Given the description of an element on the screen output the (x, y) to click on. 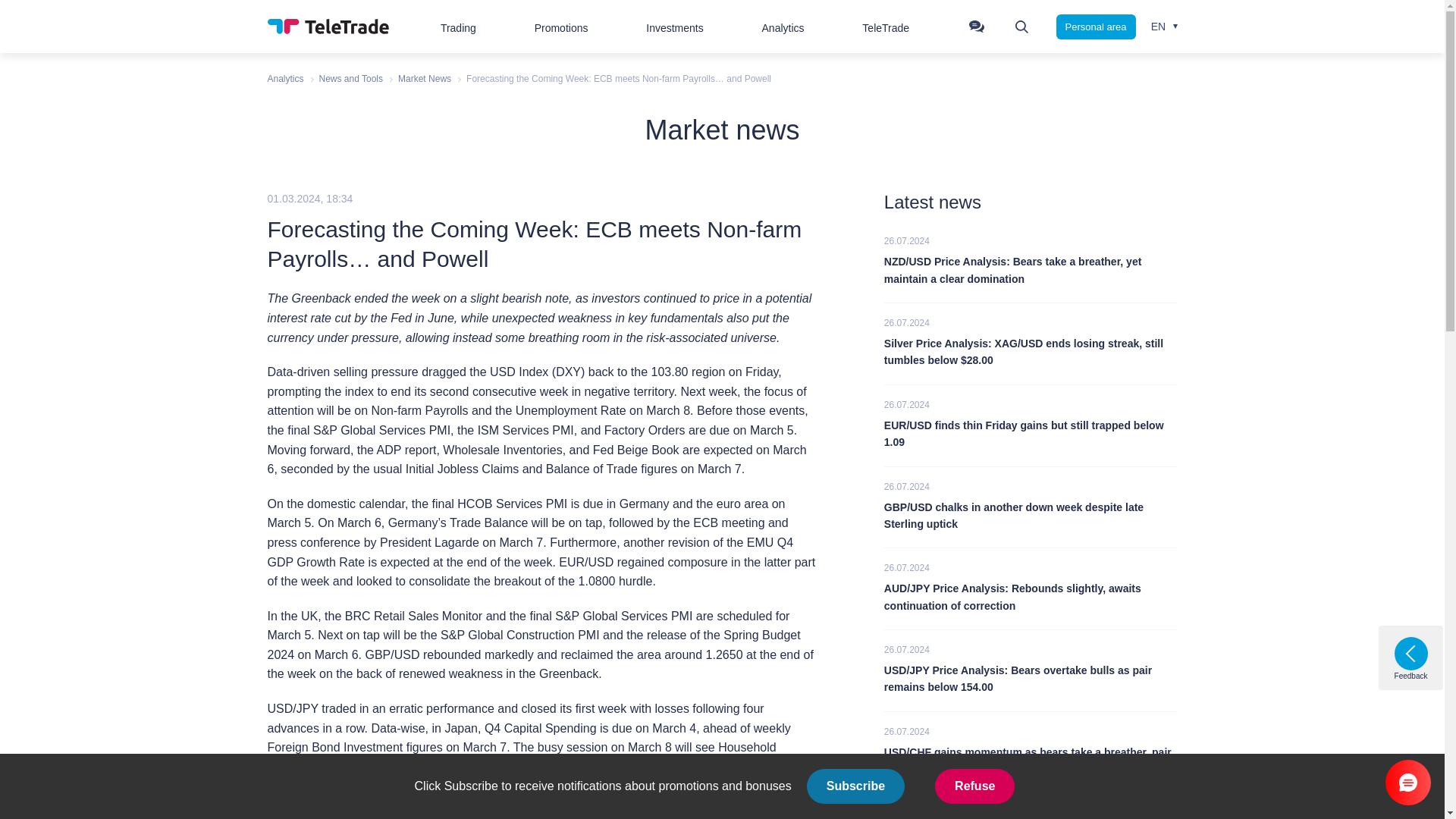
News and Tools (351, 79)
Analytics (284, 79)
Market News (424, 79)
